Given the description of an element on the screen output the (x, y) to click on. 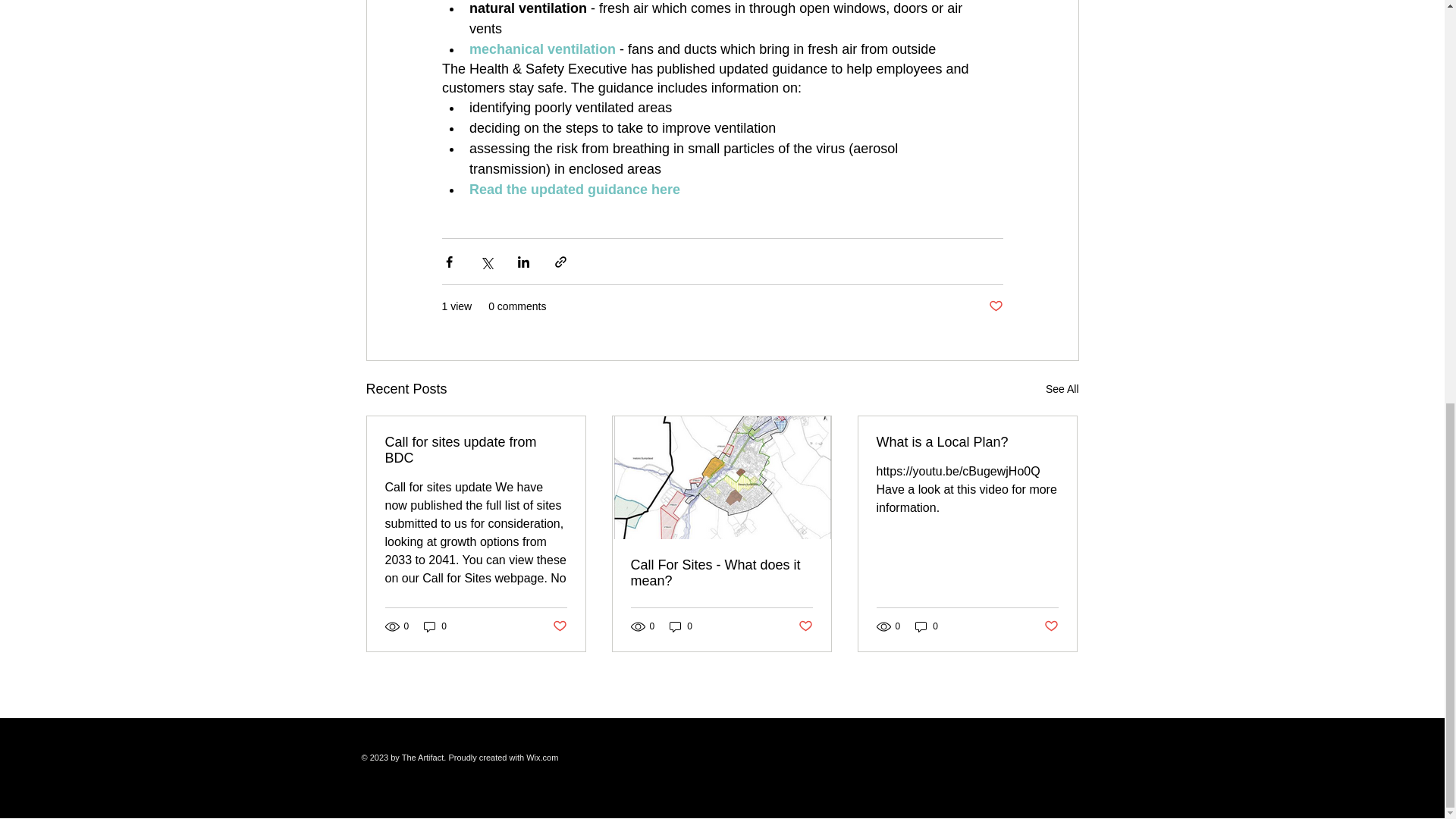
mechanical ventilation (541, 48)
Call For Sites - What does it mean? (721, 572)
0 (681, 626)
0 (435, 626)
Call for sites update from BDC (476, 450)
See All (1061, 389)
Read the updated guidance here (573, 189)
Post not marked as liked (995, 306)
Post not marked as liked (558, 626)
Post not marked as liked (804, 626)
